Given the description of an element on the screen output the (x, y) to click on. 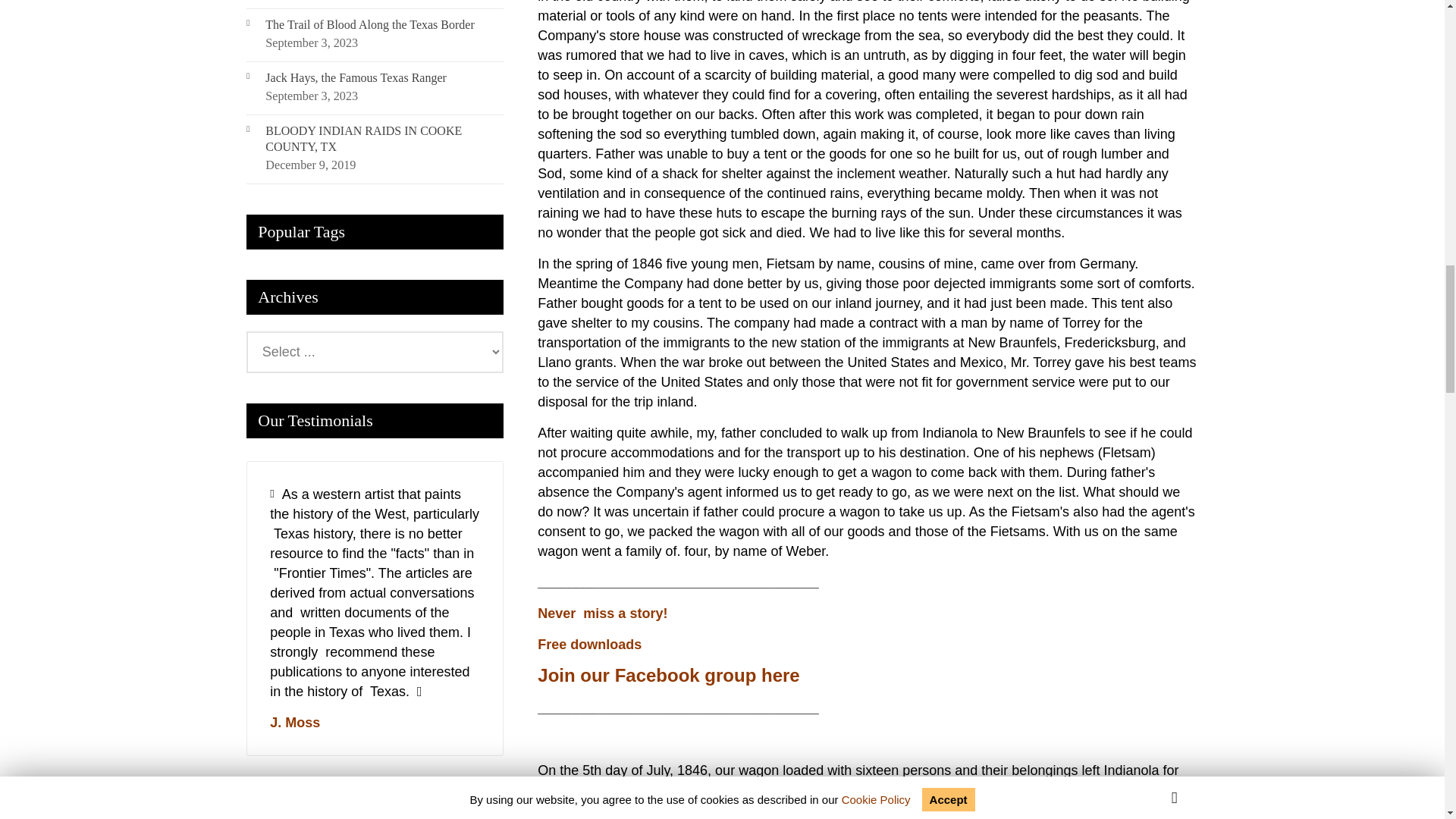
Free downloads (589, 644)
Never  miss a story! (601, 613)
Join our Facebook group here (668, 675)
